Given the description of an element on the screen output the (x, y) to click on. 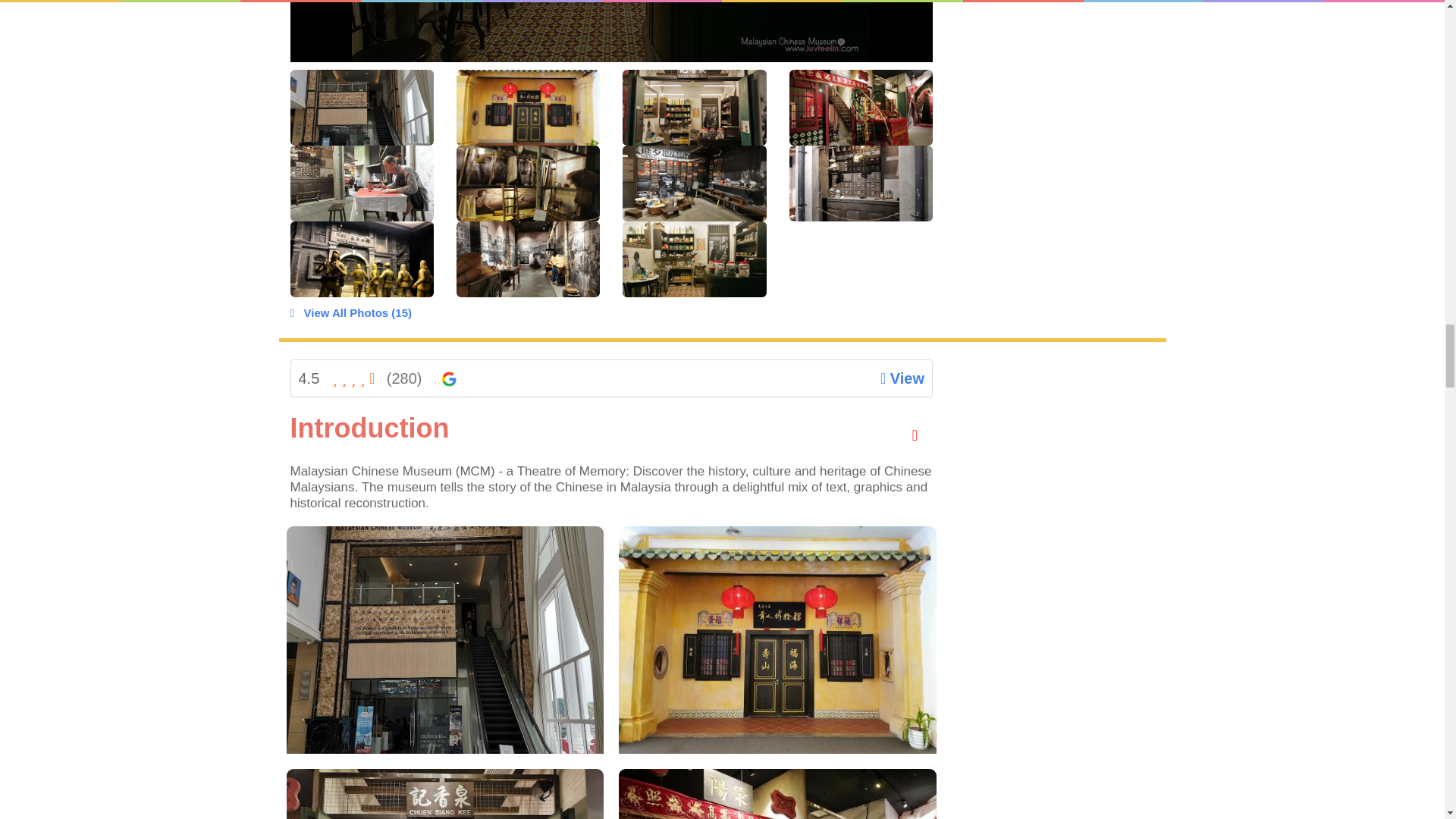
Google Rating (449, 378)
View (441, 378)
